Given the description of an element on the screen output the (x, y) to click on. 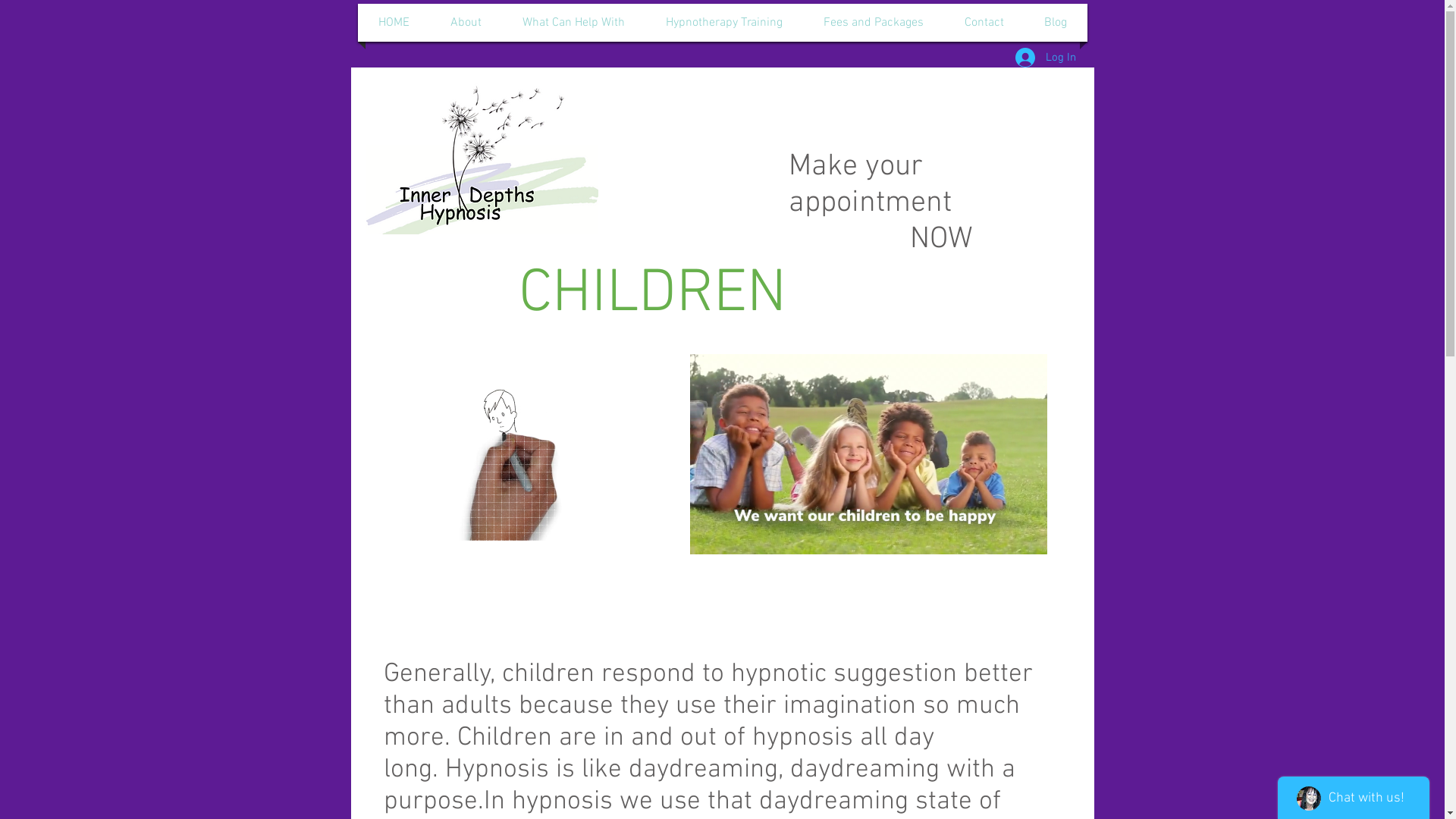
About Element type: text (465, 22)
Contact Element type: text (983, 22)
Blog Element type: text (1055, 22)
Hypnotherapy Training Element type: text (724, 22)
HOME Element type: text (392, 22)
Fees and Packages Element type: text (873, 22)
Log In Element type: text (1044, 57)
